Given the description of an element on the screen output the (x, y) to click on. 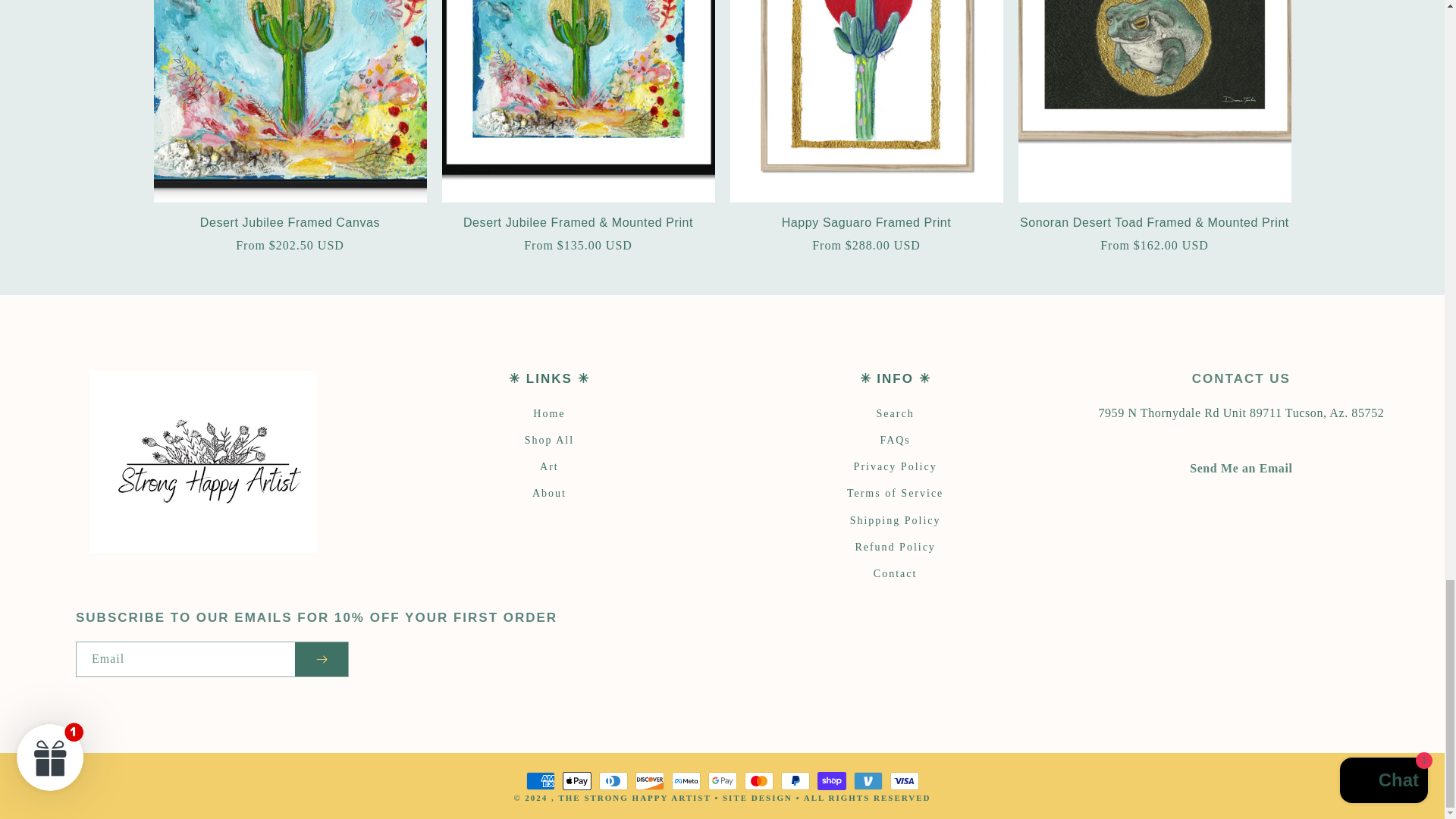
FAQs (894, 439)
Refund Policy (895, 546)
Contact (895, 573)
Shipping Policy (895, 519)
Home (548, 415)
Terms of Service (895, 492)
Shop All (548, 439)
THE STRONG HAPPY ARTIST (633, 797)
Search (895, 415)
Happy Saguaro Framed Print (866, 222)
Send Me an Email (1240, 468)
Contact (1240, 468)
Privacy Policy (895, 466)
About (549, 492)
Desert Jubilee Framed Canvas (289, 222)
